Given the description of an element on the screen output the (x, y) to click on. 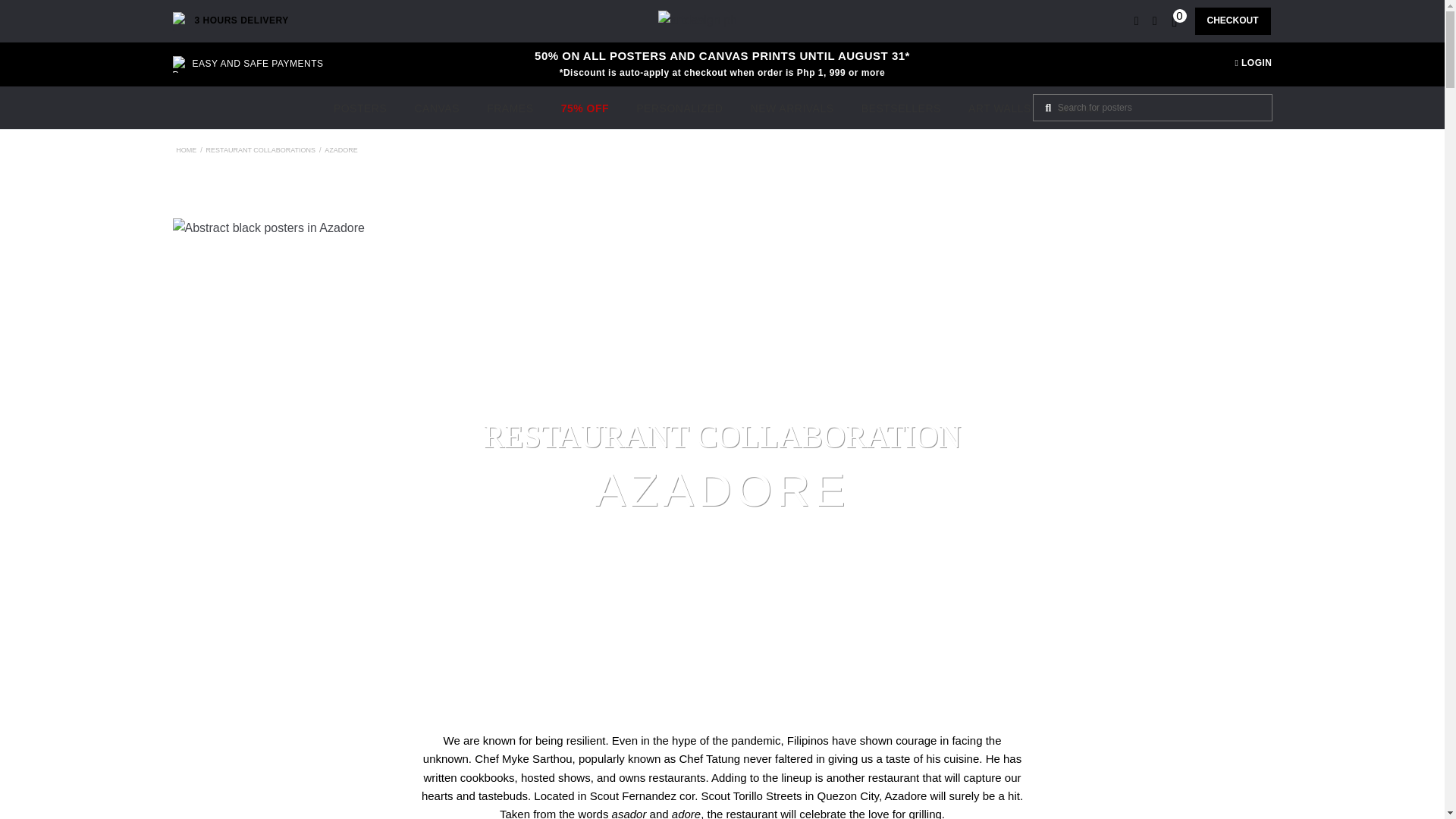
POSTERS (359, 108)
3 HOURS DELIVERY (230, 21)
EASY AND SAFE PAYMENTS (248, 64)
CHECKOUT (1233, 20)
LOGIN (1253, 62)
